Given the description of an element on the screen output the (x, y) to click on. 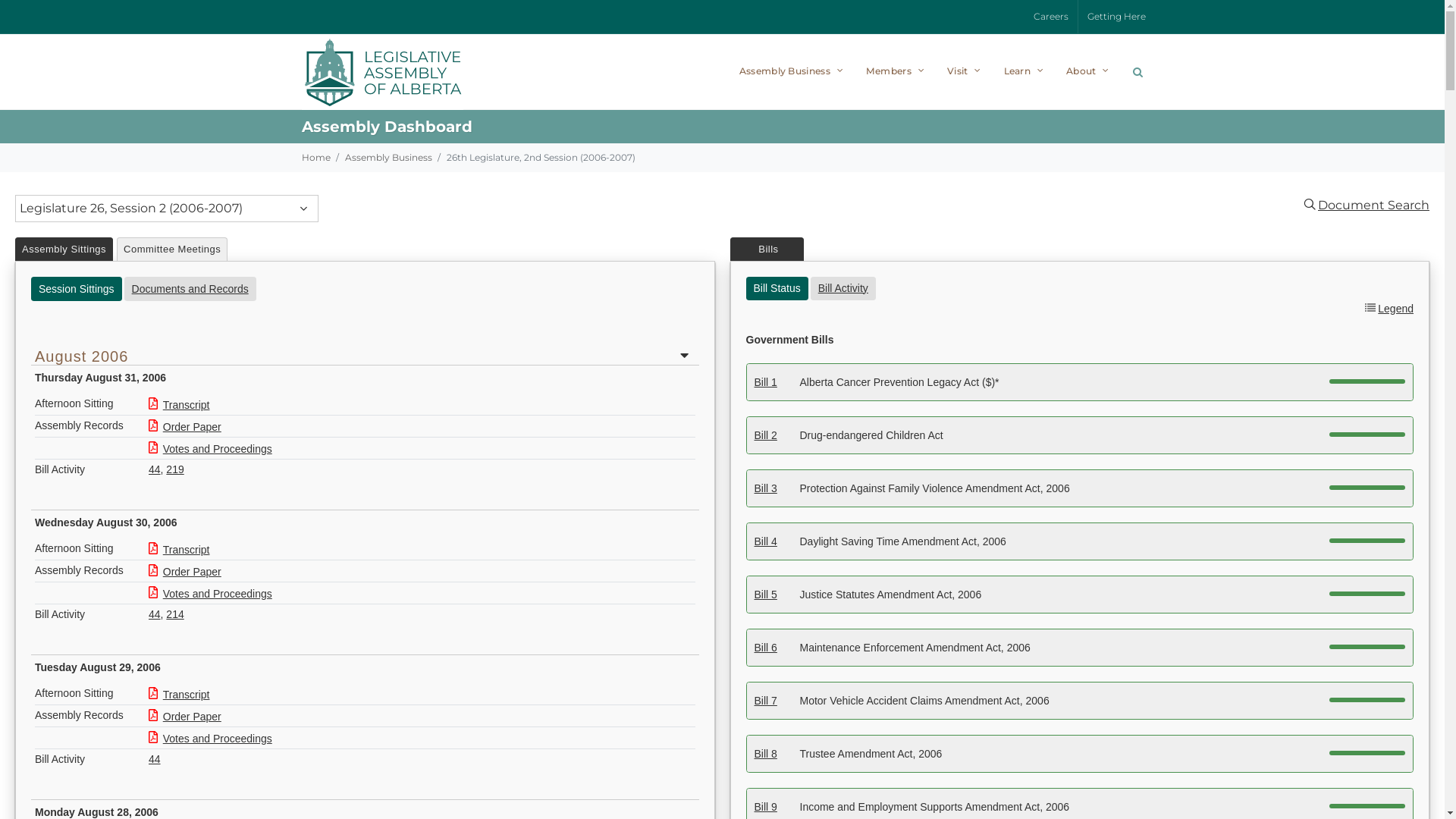
Bill Status Element type: text (777, 287)
Assembly Business Element type: text (792, 71)
Bill 8 Element type: text (764, 753)
Bill 4 Element type: text (764, 541)
Bill 1 Element type: text (764, 382)
Home Element type: text (315, 157)
Bill 7 Element type: text (764, 700)
Order Paper Element type: text (184, 571)
Bill 6 Element type: text (764, 647)
44 Element type: text (154, 468)
Transcript Element type: text (178, 694)
Transcript Element type: text (178, 404)
Bill 3 Element type: text (764, 488)
Documents and Records Element type: text (190, 288)
Document Search Element type: text (1373, 204)
Order Paper Element type: text (184, 715)
214 Element type: text (174, 614)
       Bills       Element type: text (766, 248)
Bill 5 Element type: text (764, 594)
219 Element type: text (174, 468)
Getting Here Element type: text (1116, 16)
44 Element type: text (154, 614)
Careers Element type: text (1049, 16)
Bill 9 Element type: text (764, 806)
Legend Element type: text (1395, 307)
44 Element type: text (154, 758)
Session Sittings Element type: text (76, 288)
Learn Element type: text (1025, 71)
Bill Activity Element type: text (842, 287)
Votes and Proceedings Element type: text (210, 592)
Members Element type: text (896, 71)
Visit Element type: text (965, 71)
Committee Meetings Element type: text (171, 248)
Order Paper Element type: text (184, 426)
About Element type: text (1089, 71)
Assembly Business Element type: text (387, 157)
Bill 2 Element type: text (764, 435)
Votes and Proceedings Element type: text (210, 738)
Assembly Sittings Element type: text (63, 248)
Votes and Proceedings Element type: text (210, 448)
Transcript Element type: text (178, 548)
